Given the description of an element on the screen output the (x, y) to click on. 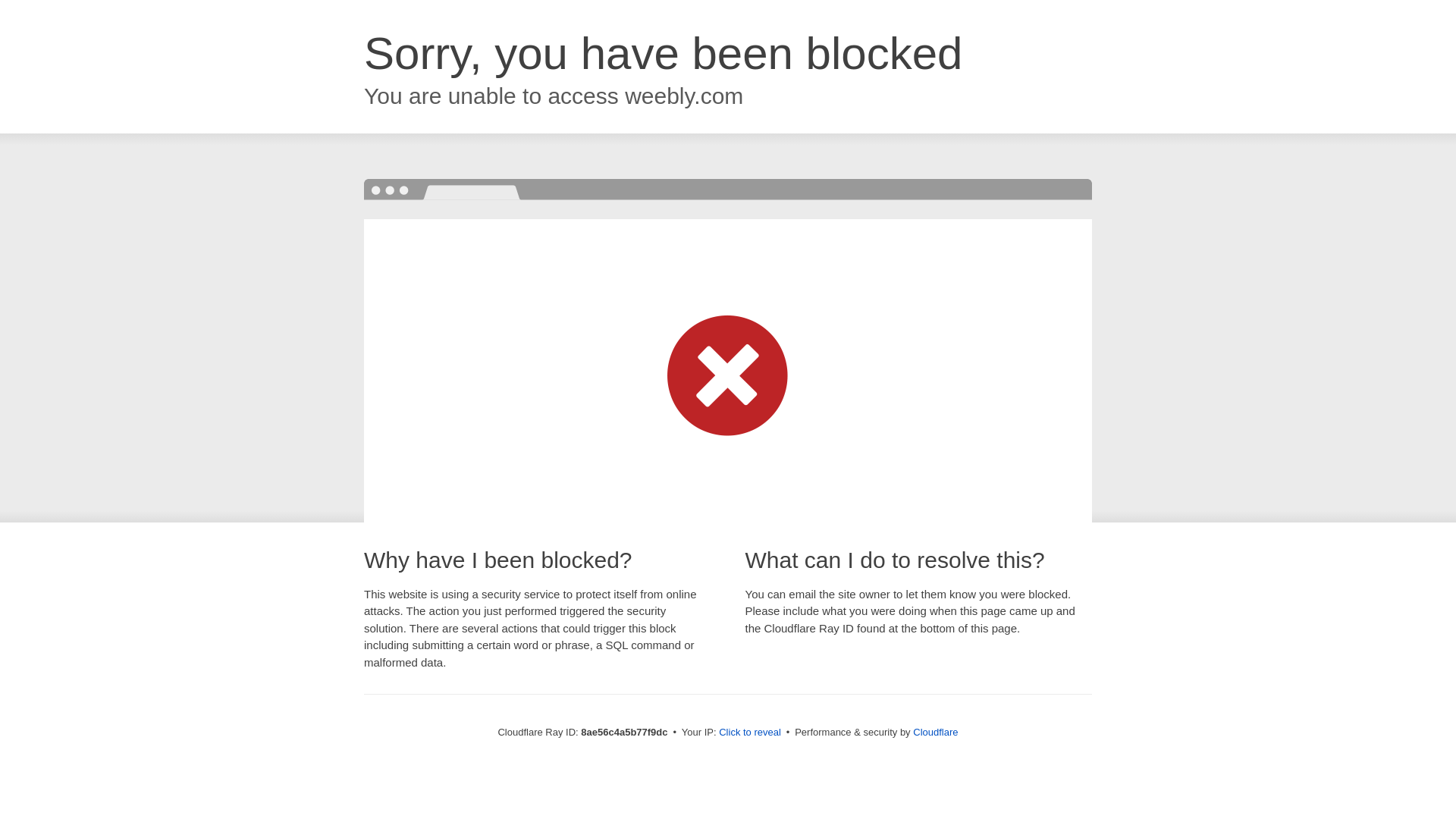
Click to reveal (749, 732)
Cloudflare (935, 731)
